Given the description of an element on the screen output the (x, y) to click on. 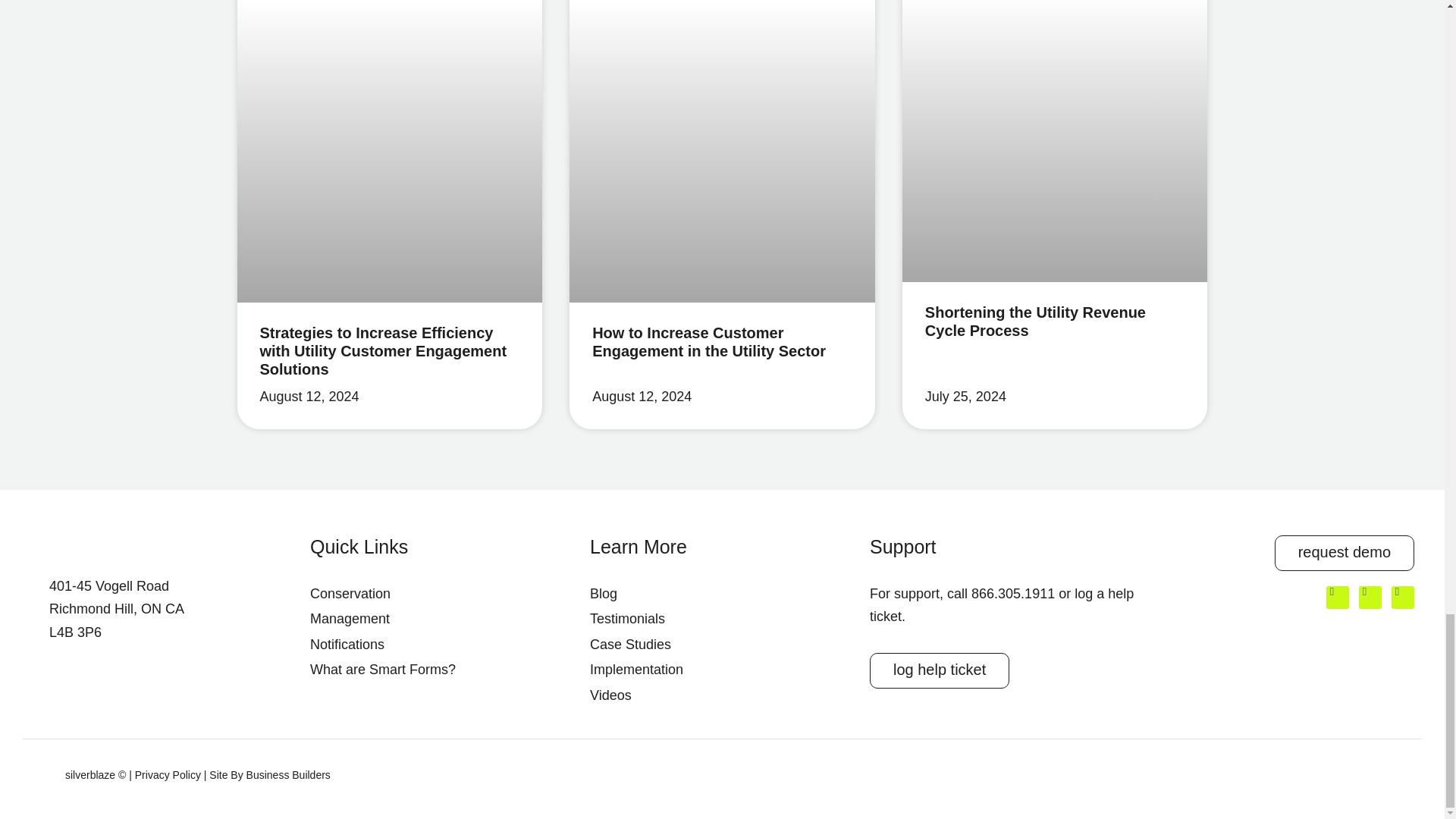
Conservation (442, 594)
Management (442, 618)
What are Smart Forms? (442, 669)
request demo (1344, 552)
Business Builders (288, 775)
Implementation (721, 669)
Notifications (442, 644)
Videos (721, 695)
How to Increase Customer Engagement in the Utility Sector (708, 341)
Blog (721, 594)
